Given the description of an element on the screen output the (x, y) to click on. 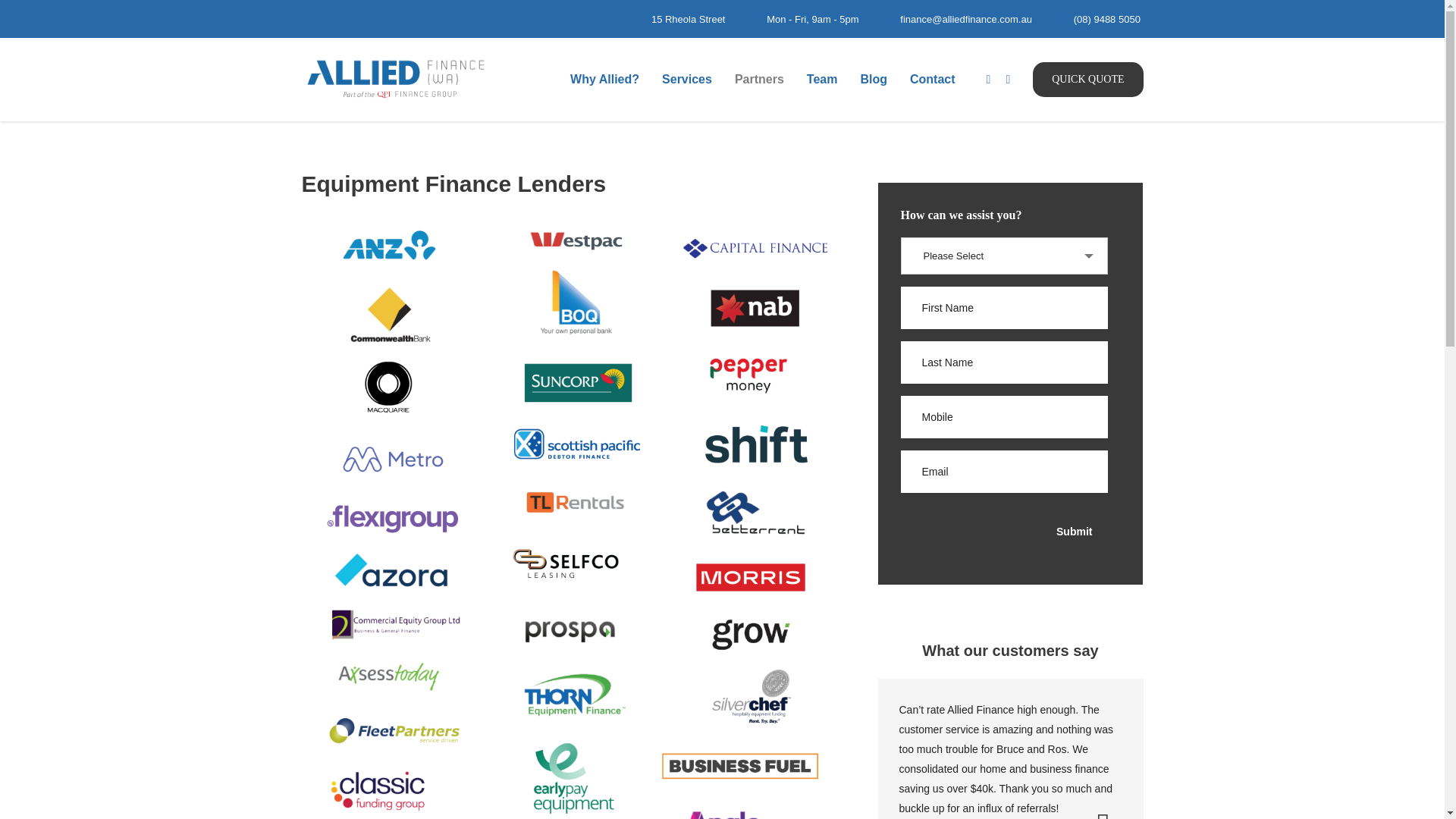
Submit (1074, 531)
QUICK QUOTE (1087, 79)
Contact (932, 79)
Blog (873, 79)
Please Select (1003, 255)
Team (821, 79)
Submit (1074, 531)
Partners (758, 79)
Services (686, 79)
Why Allied? (604, 79)
